Given the description of an element on the screen output the (x, y) to click on. 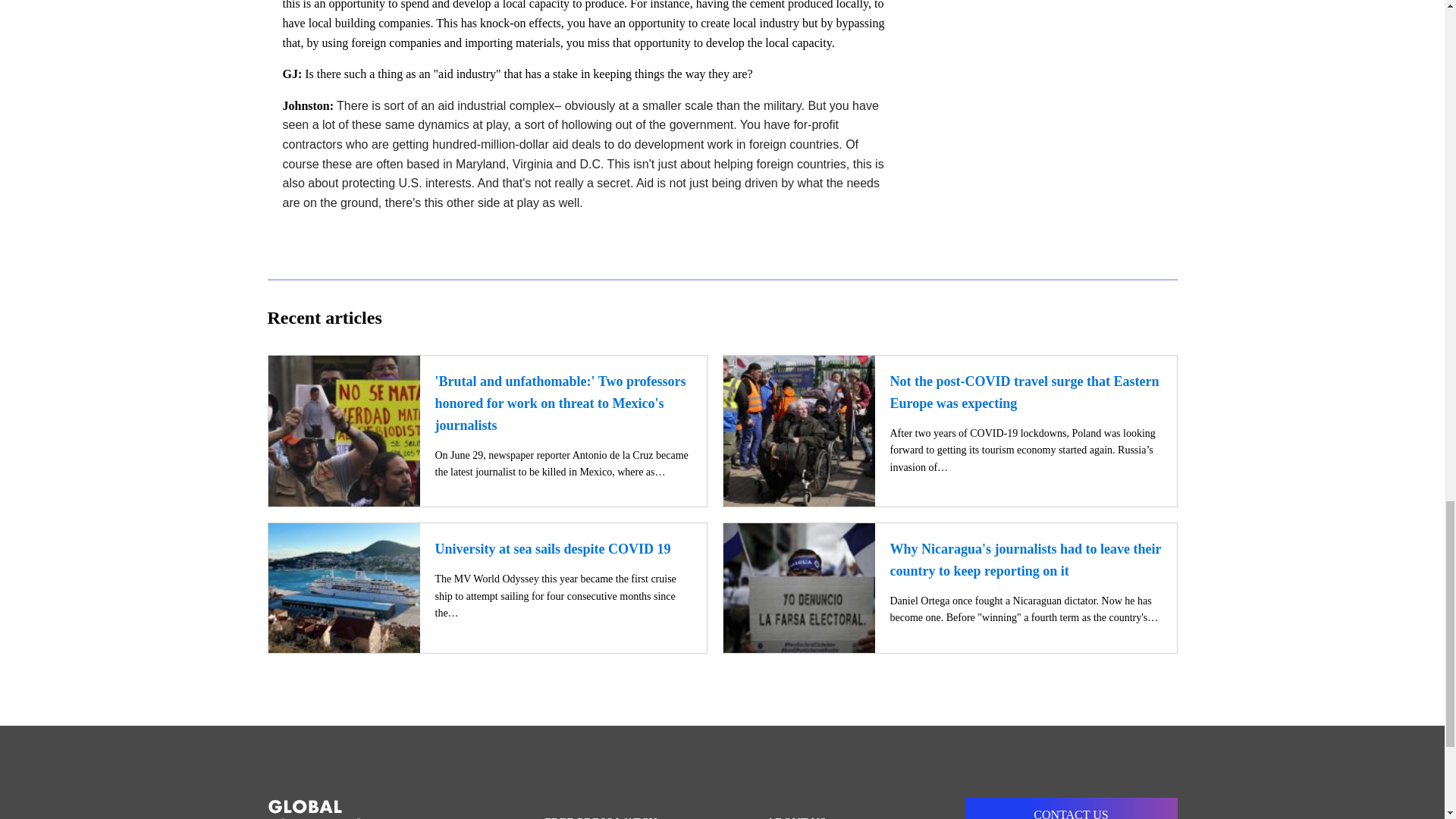
ABOUT US (835, 808)
University at sea sails despite COVID 19 (553, 548)
CONTACT US (1069, 808)
FREE PRESS WATCH (608, 808)
